Given the description of an element on the screen output the (x, y) to click on. 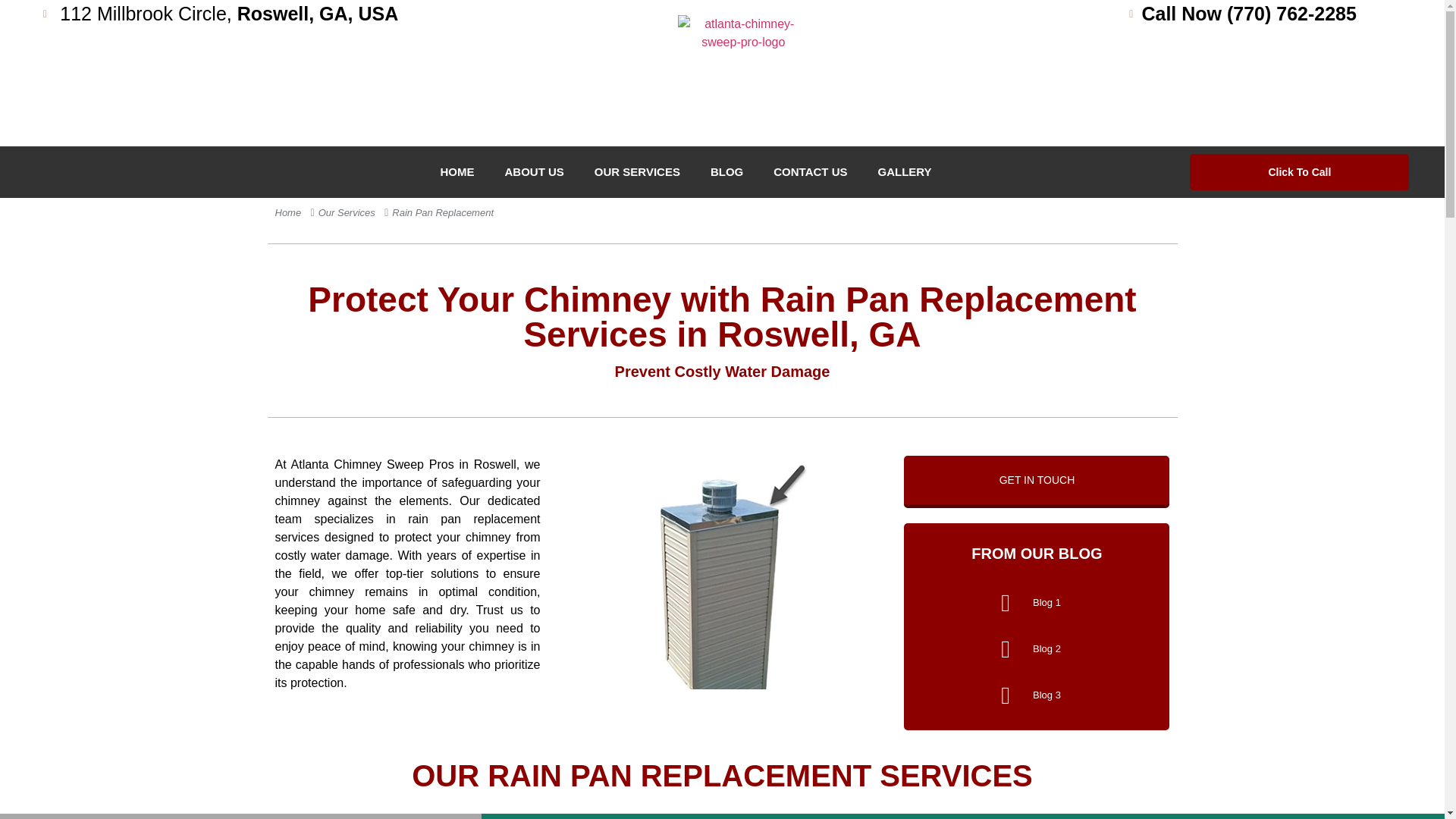
OUR SERVICES (637, 172)
CONTACT US (810, 172)
GALLERY (904, 172)
ABOUT US (534, 172)
Click To Call (1299, 171)
HOME (456, 172)
BLOG (726, 172)
